Given the description of an element on the screen output the (x, y) to click on. 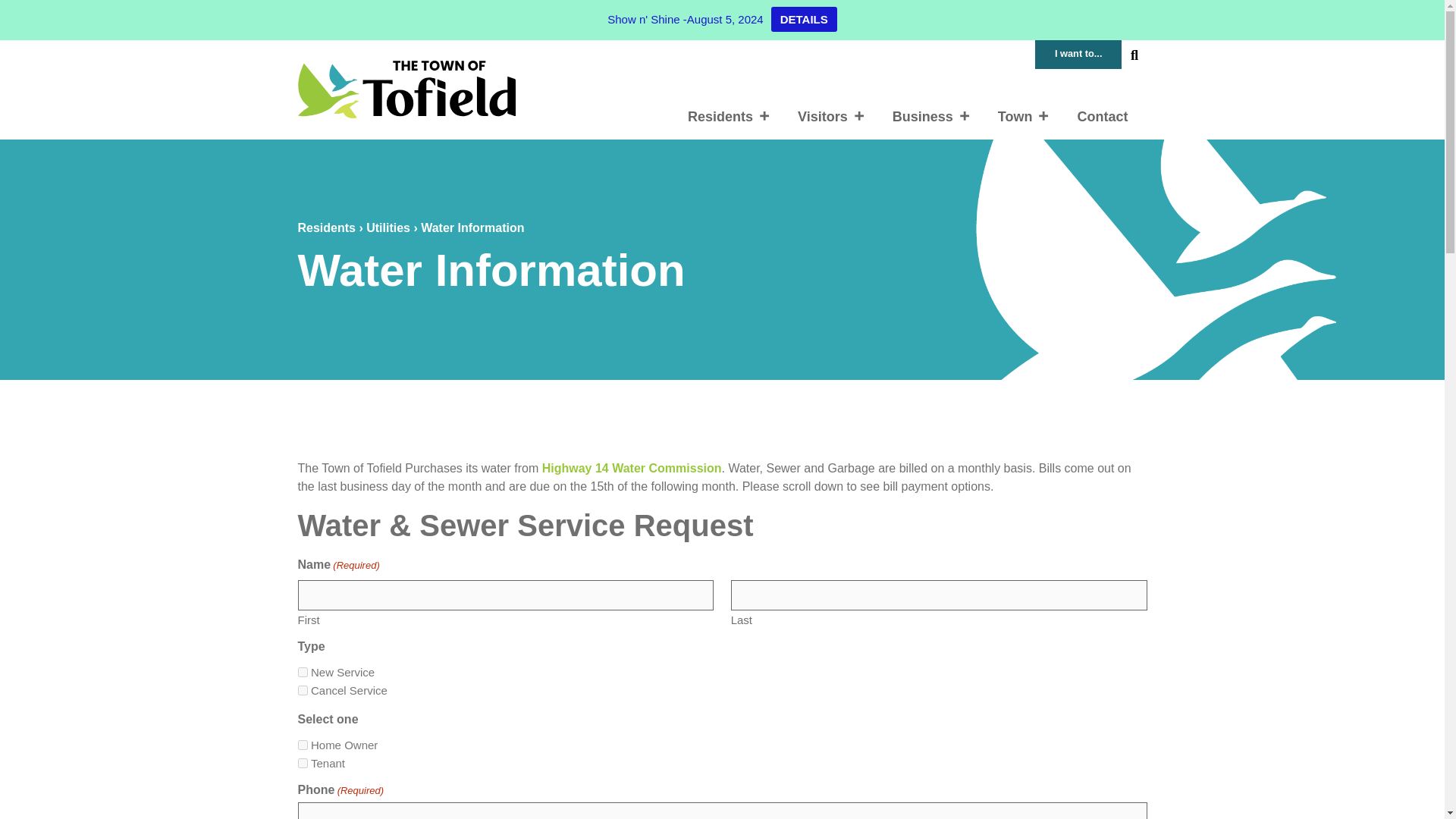
I want to... (1078, 52)
Tenant (302, 763)
New Service (302, 672)
Home Owner (302, 745)
Cancel Service (302, 690)
